Given the description of an element on the screen output the (x, y) to click on. 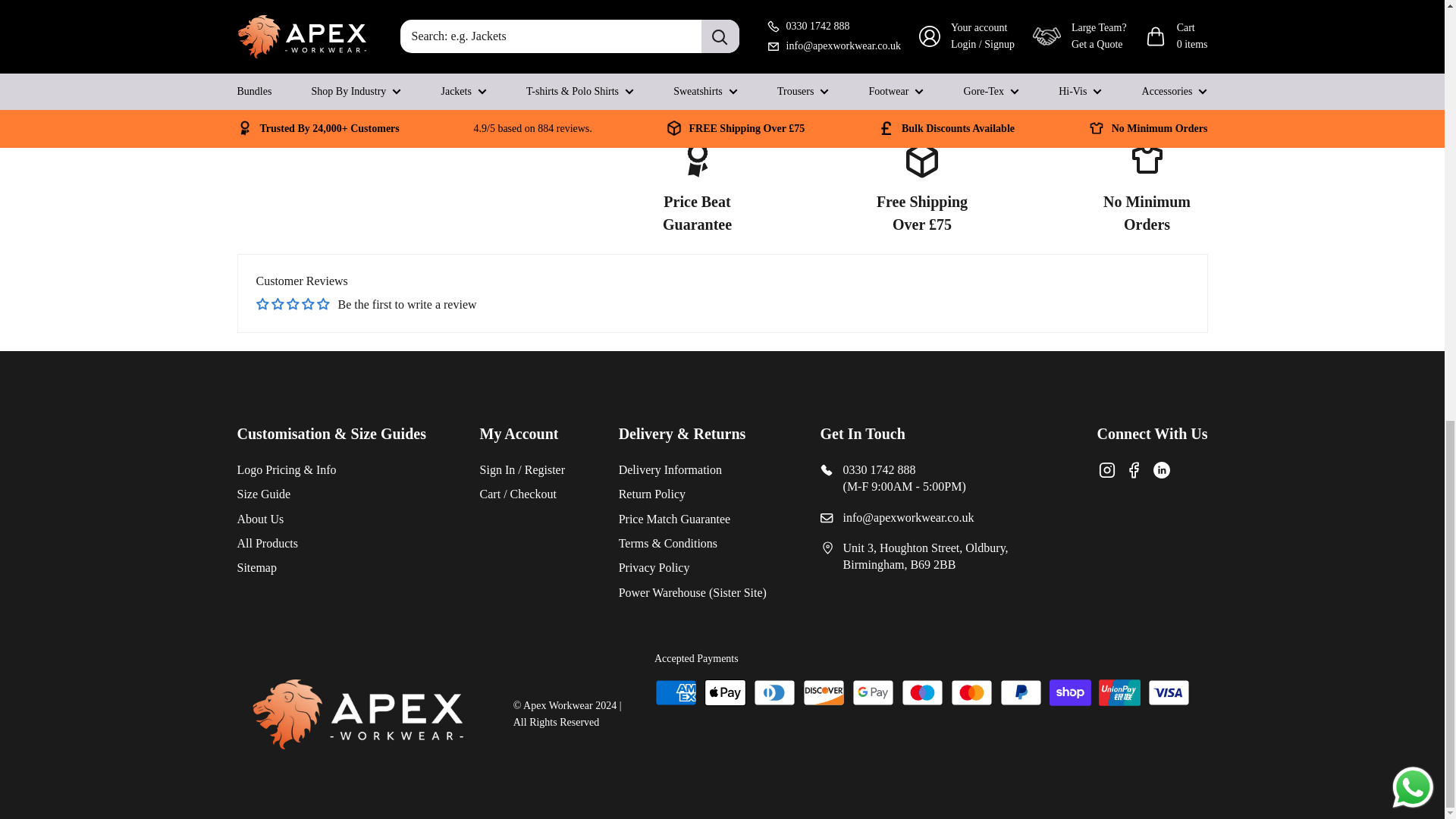
tel:03301742888 (858, 81)
